Given the description of an element on the screen output the (x, y) to click on. 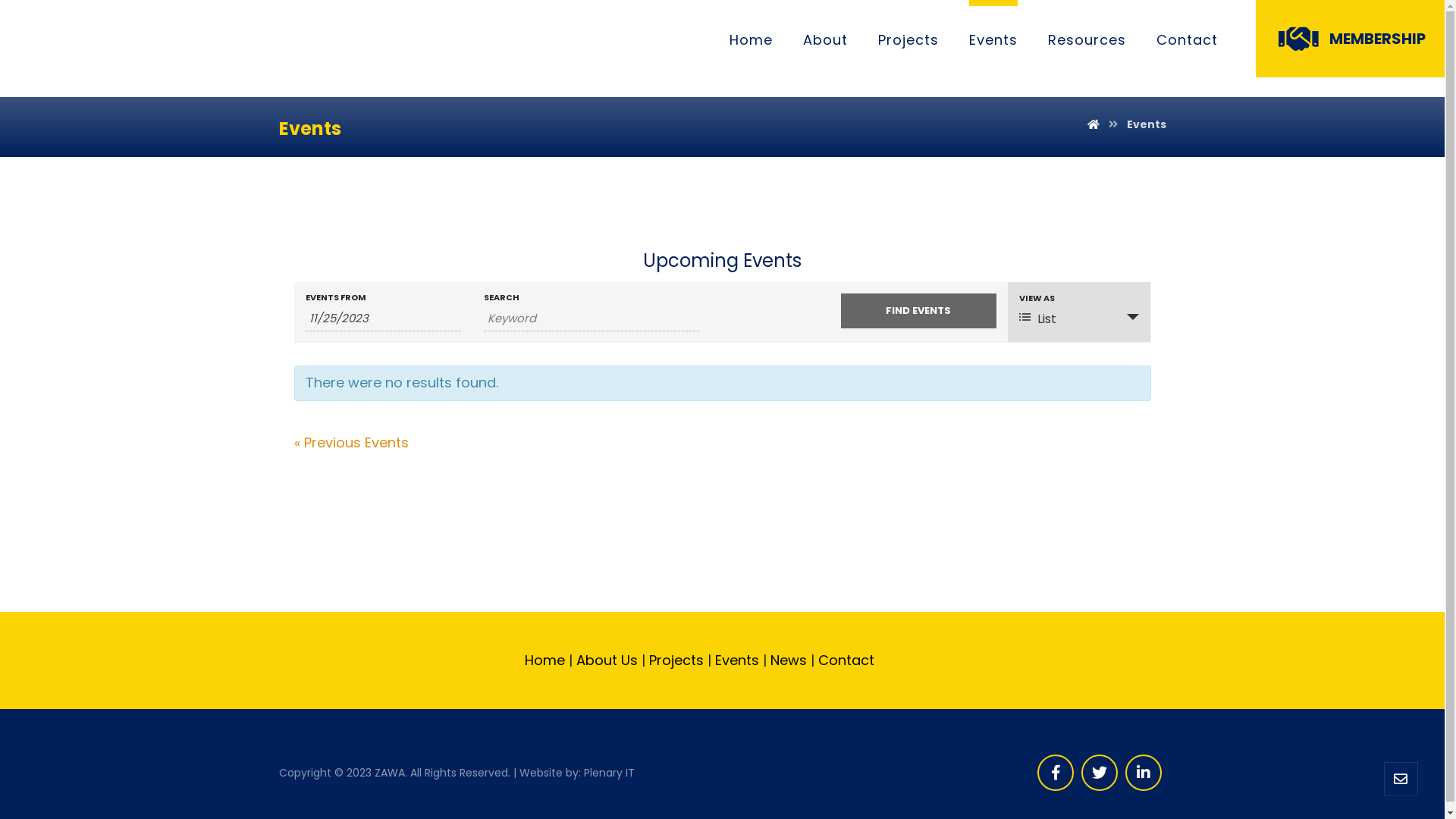
Home Element type: text (750, 40)
Linkedin Element type: hover (1143, 772)
Contact Element type: text (1186, 40)
Events Element type: text (993, 40)
About Us Element type: text (606, 659)
Zimbabwe Association of Western Australia Element type: hover (82, 49)
Events Element type: text (735, 659)
Plenary IT Element type: text (608, 772)
About Element type: text (825, 40)
Home page Element type: hover (1093, 123)
Twitter Element type: hover (1099, 772)
Projects Element type: text (908, 40)
Facebook Element type: hover (1055, 772)
Resources Element type: text (1087, 40)
Contact  Element type: text (848, 659)
Home Element type: text (544, 659)
Events Element type: text (1146, 123)
Find Events Element type: text (918, 310)
MEMBERSHIP Element type: text (1349, 38)
Projects Element type: text (676, 659)
List Element type: text (1078, 317)
News Element type: text (788, 659)
